Given the description of an element on the screen output the (x, y) to click on. 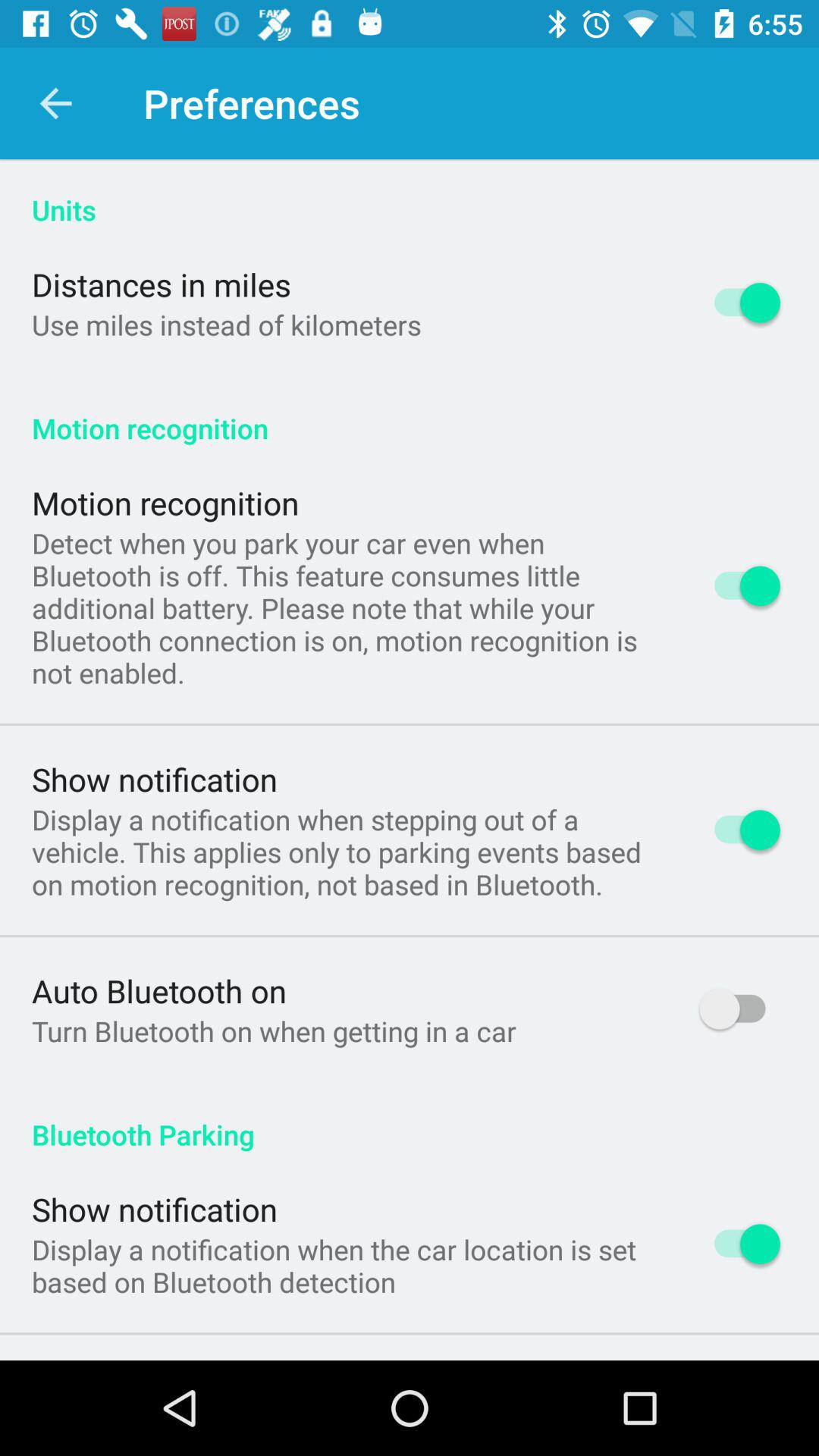
go to previous (55, 103)
